Given the description of an element on the screen output the (x, y) to click on. 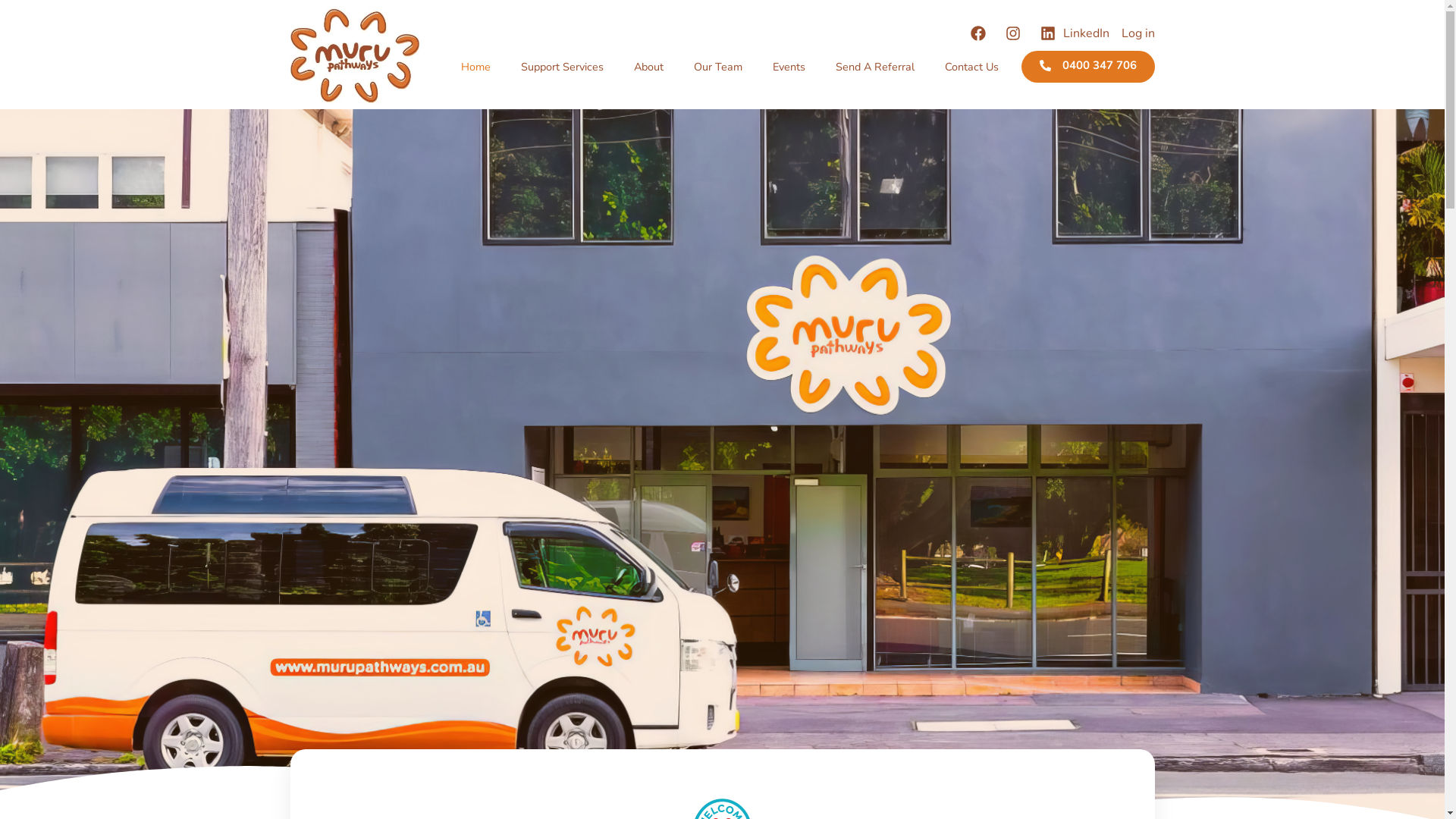
LinkedIn Element type: text (1074, 33)
Send A Referral Element type: text (874, 66)
Home Element type: text (475, 66)
About Element type: text (648, 66)
Log in Element type: text (1137, 33)
0400 347 706 Element type: text (1087, 66)
Support Services Element type: text (561, 66)
Events Element type: text (787, 66)
Our Team Element type: text (716, 66)
Contact Us Element type: text (971, 66)
